Given the description of an element on the screen output the (x, y) to click on. 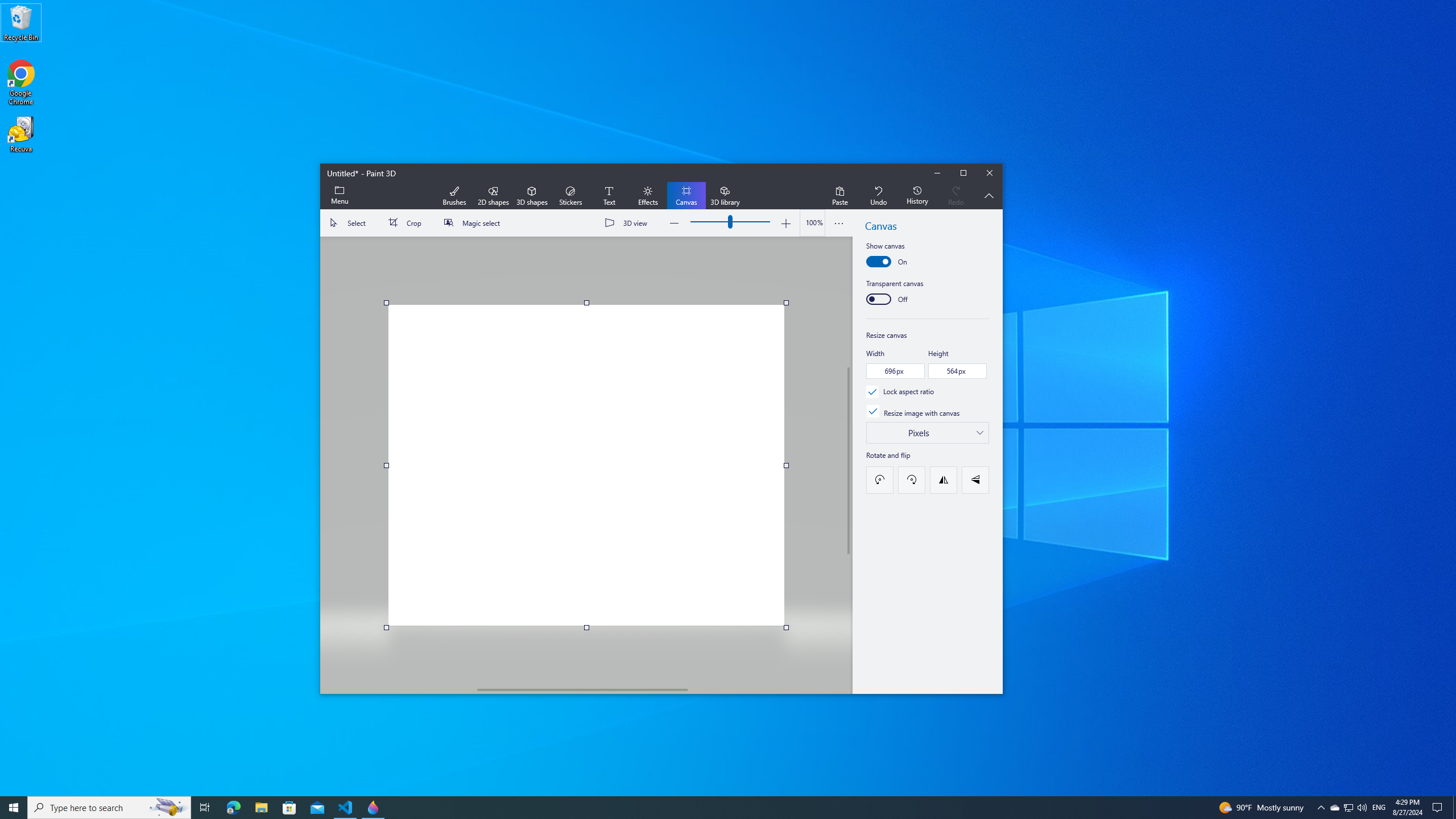
Type here to search (1333, 807)
Microsoft Edge (108, 807)
User Promoted Notification Area (1347, 807)
Microsoft Store (233, 807)
Q2790: 100% (1347, 807)
Task View (289, 807)
Google Chrome (1361, 807)
